Given the description of an element on the screen output the (x, y) to click on. 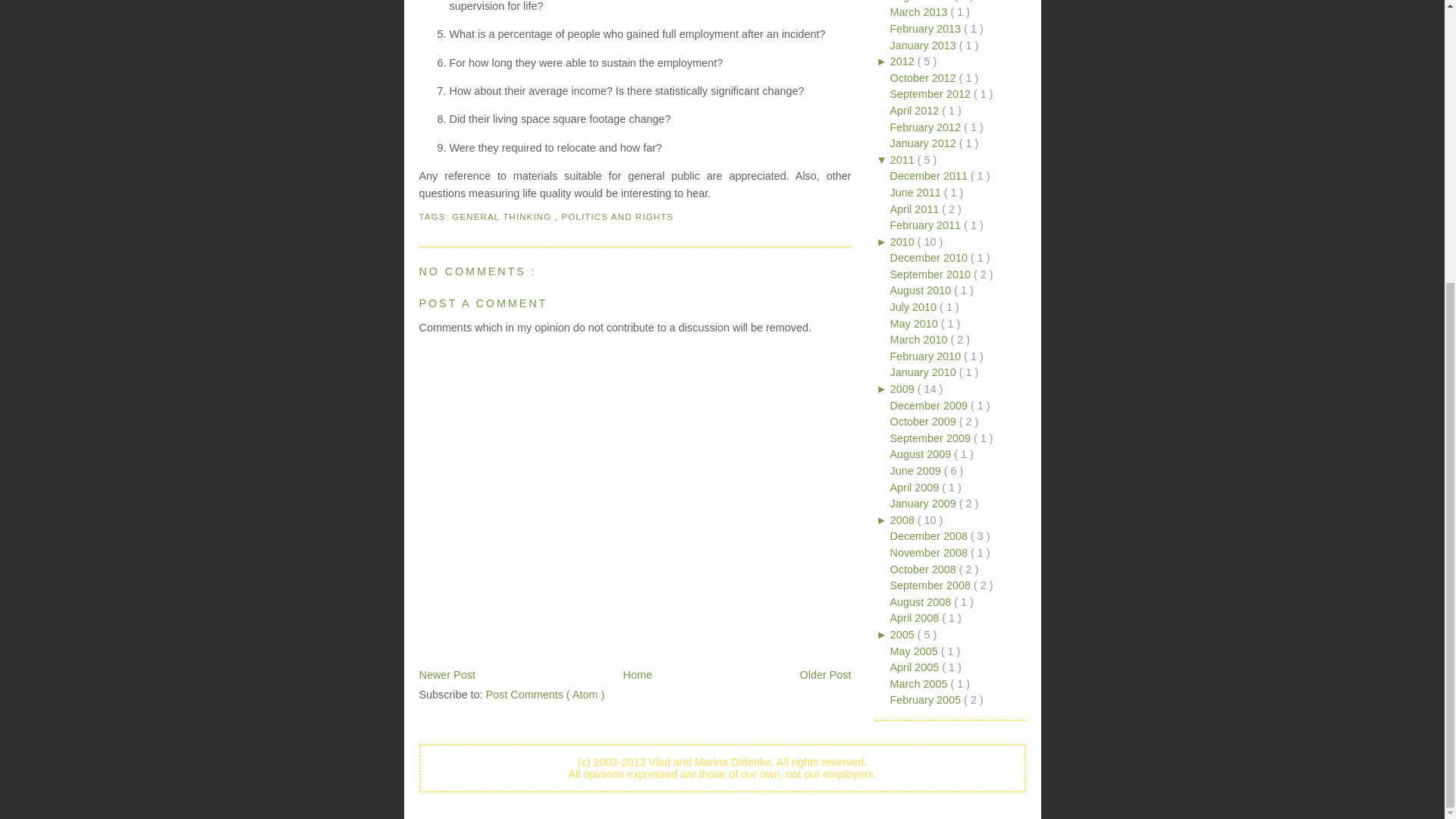
Newer Post (446, 674)
Home (637, 674)
Newer Post (446, 674)
August 2013 (922, 1)
Older Post (825, 674)
POLITICS AND RIGHTS (616, 216)
Older Post (825, 674)
March 2013 (919, 11)
GENERAL THINKING (502, 216)
